Given the description of an element on the screen output the (x, y) to click on. 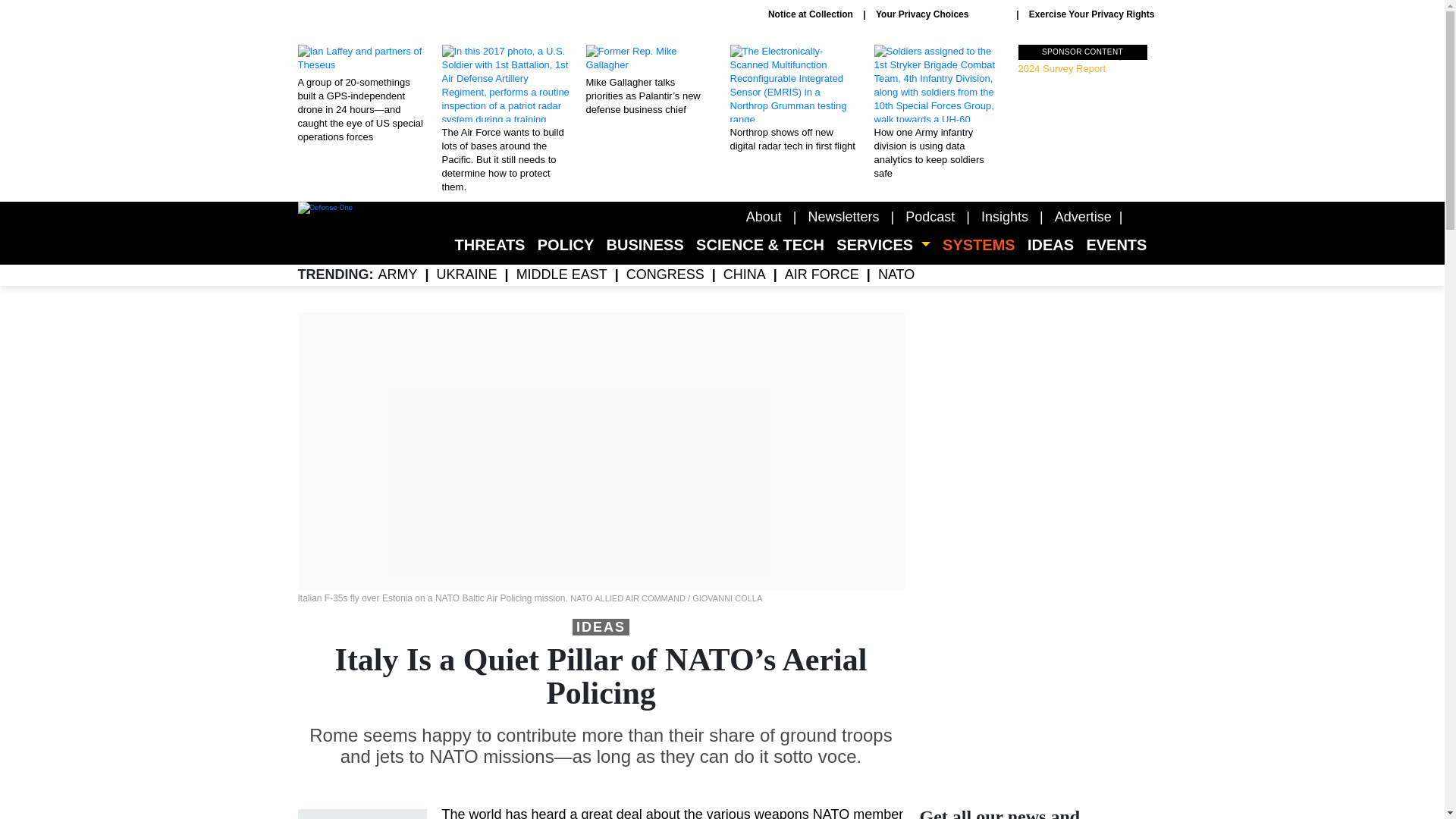
Podcast (930, 216)
Exercise Your Privacy Rights (1091, 14)
Your Privacy Choices (941, 14)
Notice at Collection (810, 14)
Advertise (1083, 216)
About (763, 216)
Northrop shows off new digital radar tech in first flight (794, 99)
Insights (1004, 216)
